Given the description of an element on the screen output the (x, y) to click on. 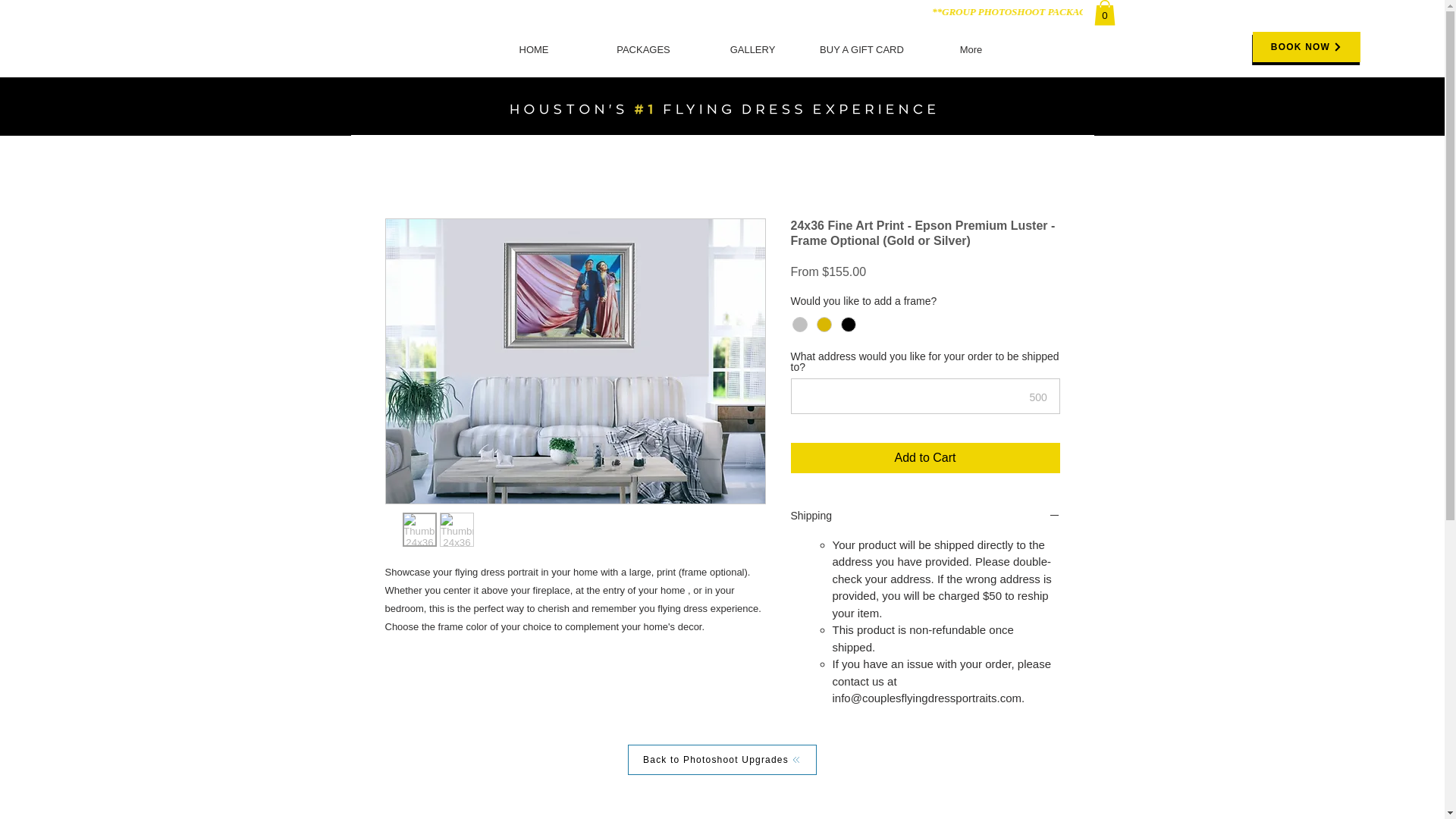
Embedded Content (722, 12)
Back to Photoshoot Upgrades (721, 759)
Shipping (924, 516)
BOOK NOW (1305, 46)
Add to Cart (924, 458)
HOME (534, 49)
GALLERY (751, 49)
BUY A GIFT CARD (860, 49)
